Given the description of an element on the screen output the (x, y) to click on. 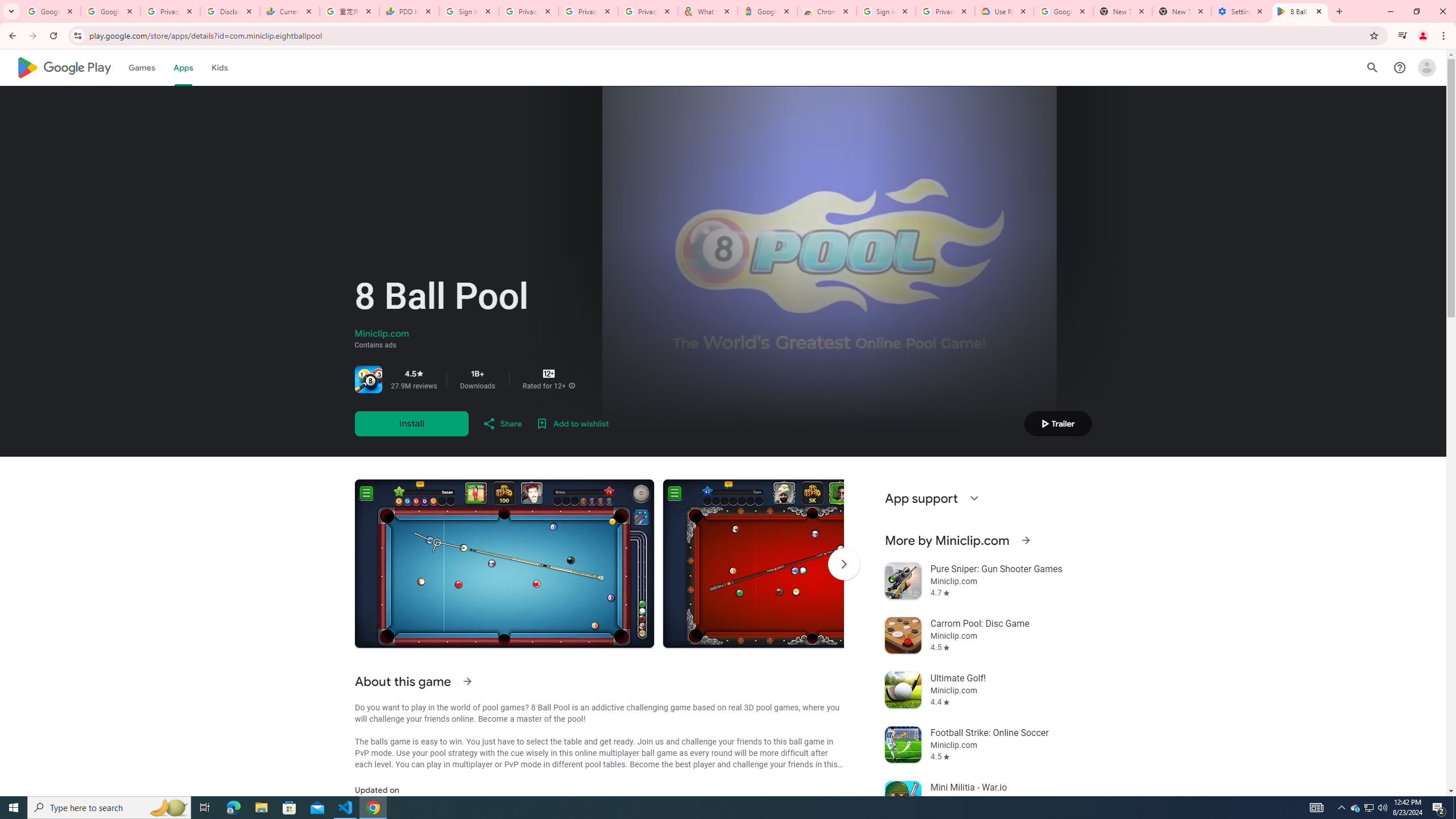
Share (502, 422)
Google Play logo (64, 67)
Privacy Checkup (647, 11)
Sign in - Google Accounts (468, 11)
Expand (973, 497)
Kids (219, 67)
Content rating (549, 373)
Scroll Next (843, 563)
Play trailer (1058, 423)
